Given the description of an element on the screen output the (x, y) to click on. 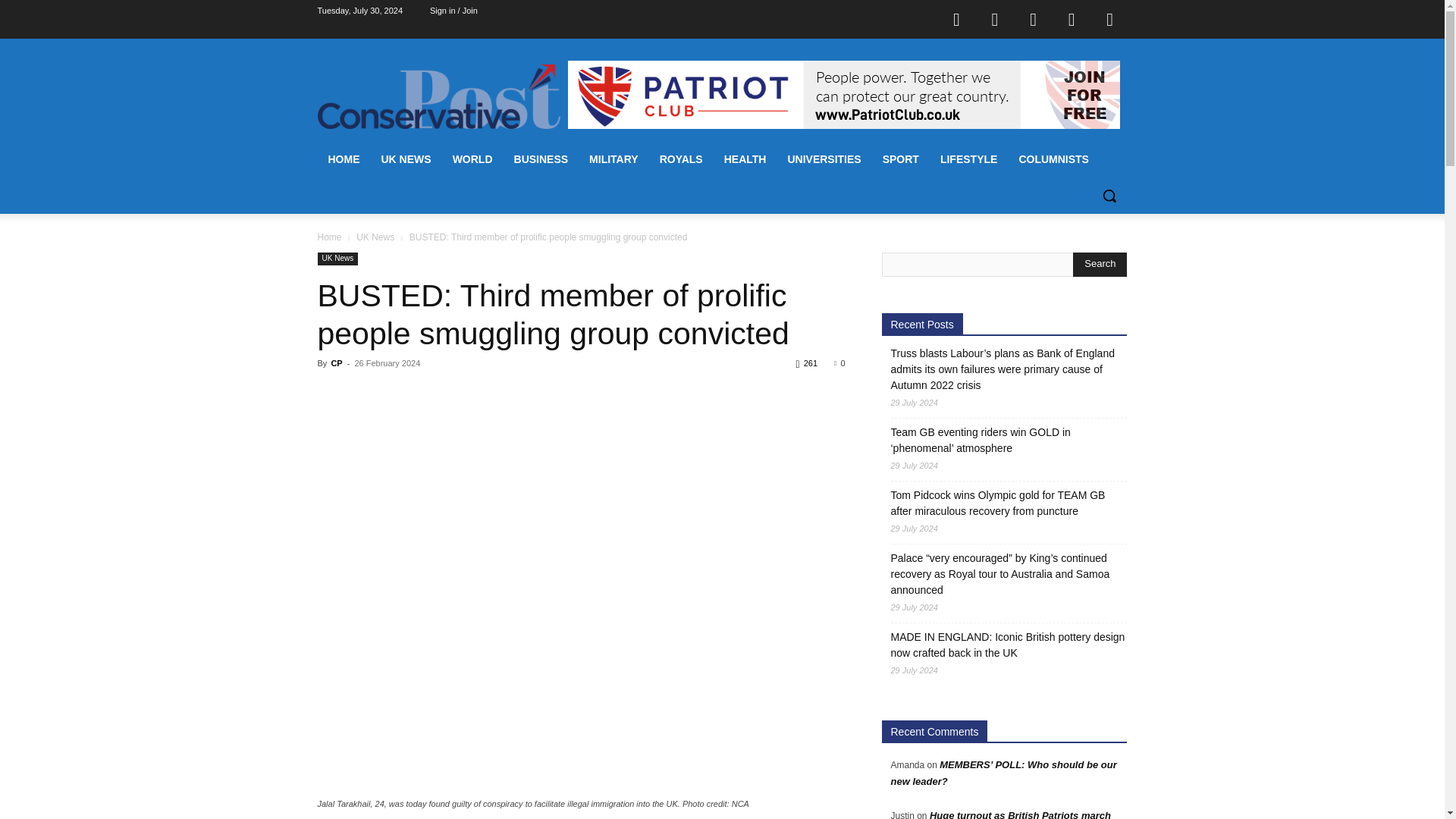
UK NEWS (405, 158)
View all posts in UK News (375, 236)
UNIVERSITIES (823, 158)
HEALTH (745, 158)
COLUMNISTS (1053, 158)
HOME (343, 158)
SPORT (901, 158)
BUSINESS (541, 158)
CP (336, 362)
MILITARY (613, 158)
Mail (1033, 18)
UK News (337, 258)
Search (1099, 264)
Facebook (956, 18)
ROYALS (681, 158)
